Given the description of an element on the screen output the (x, y) to click on. 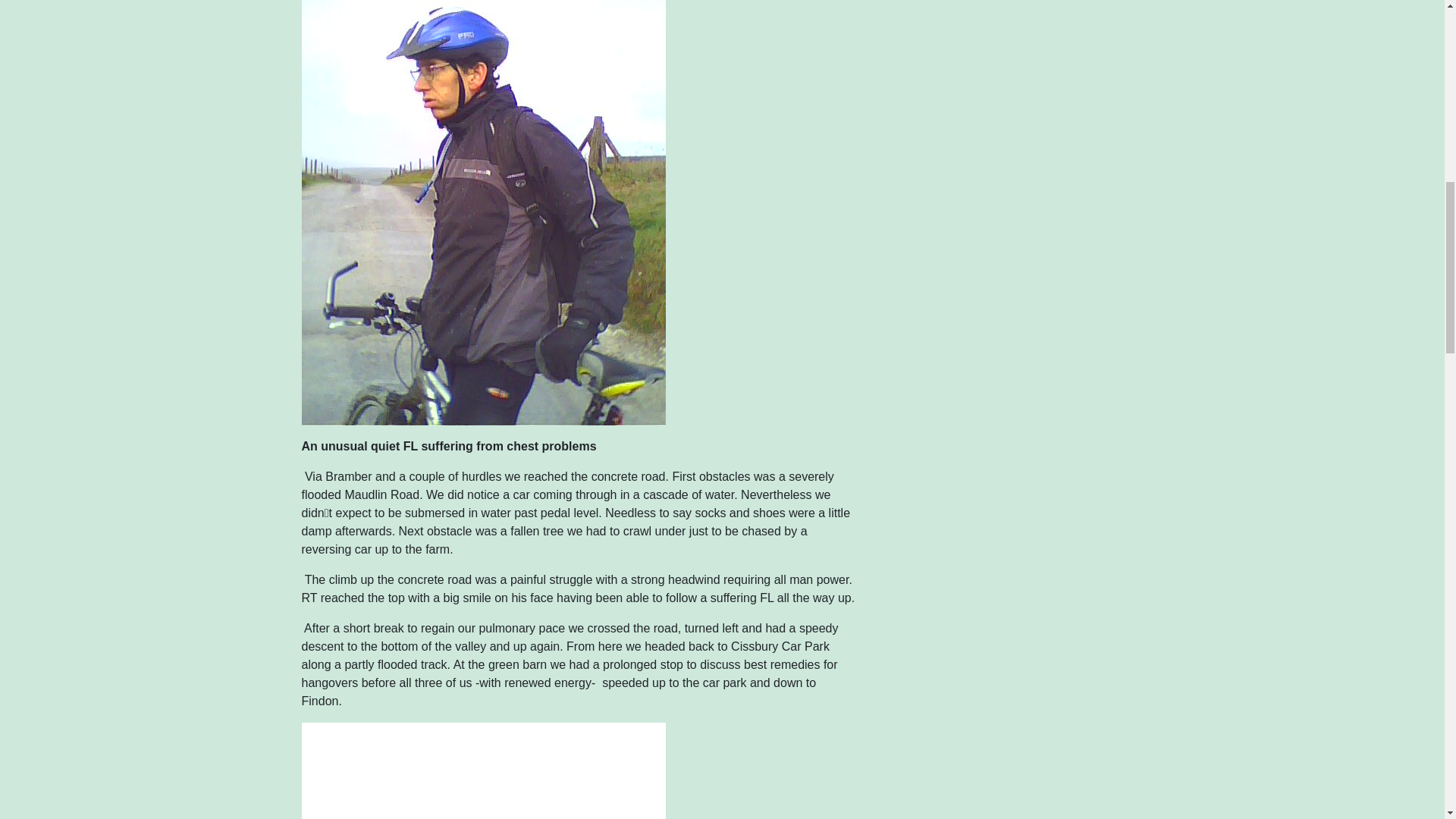
Francis (483, 181)
